Given the description of an element on the screen output the (x, y) to click on. 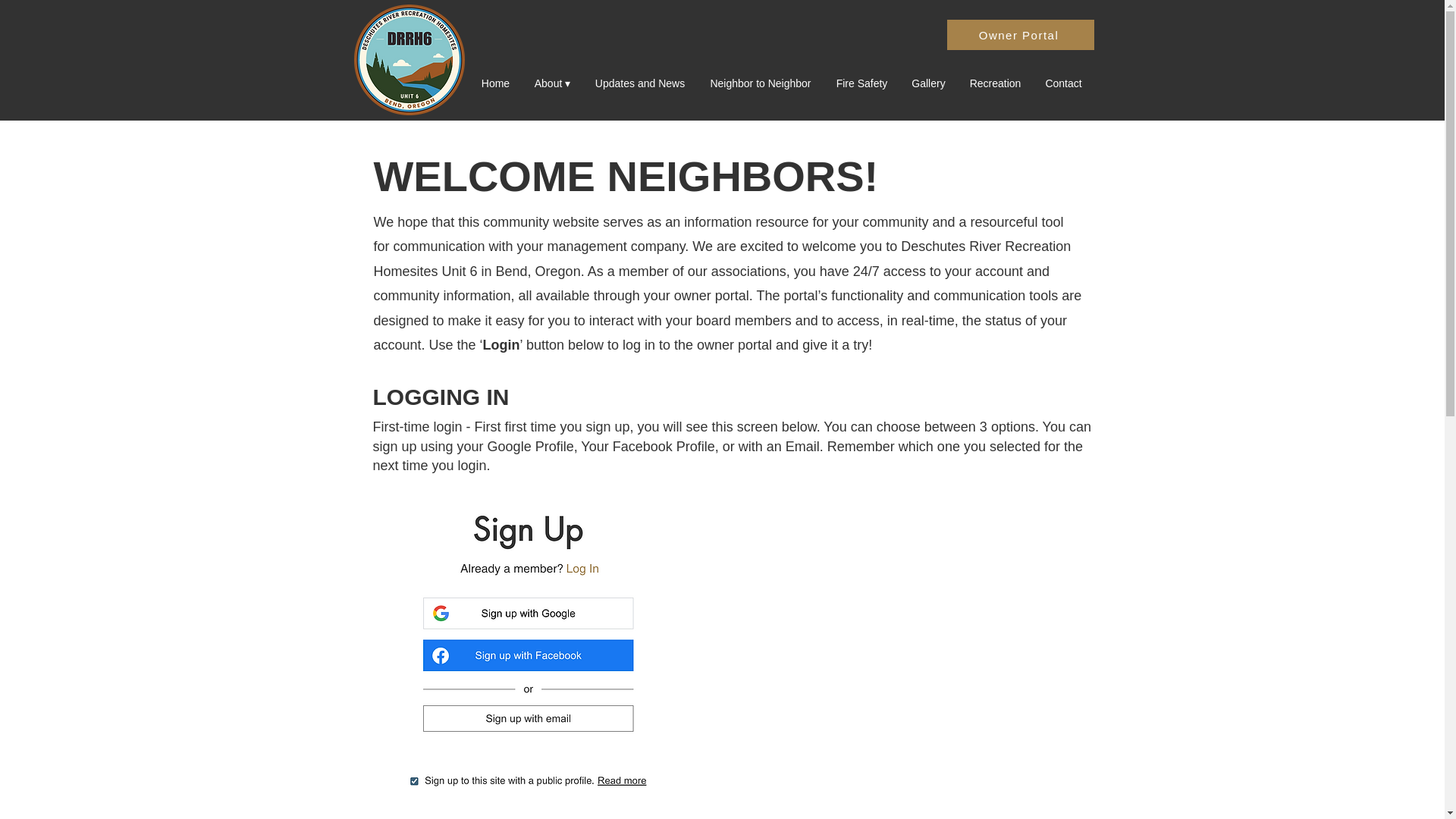
Fire Safety (861, 83)
Neighbor to Neighbor (760, 83)
Recreation (994, 83)
Contact (1062, 83)
Screenshot 2024-01-19 at 1.53.21 PM.png (522, 654)
Gallery (927, 83)
Updates and News (639, 83)
Home (494, 83)
Owner Portal (1019, 34)
